Given the description of an element on the screen output the (x, y) to click on. 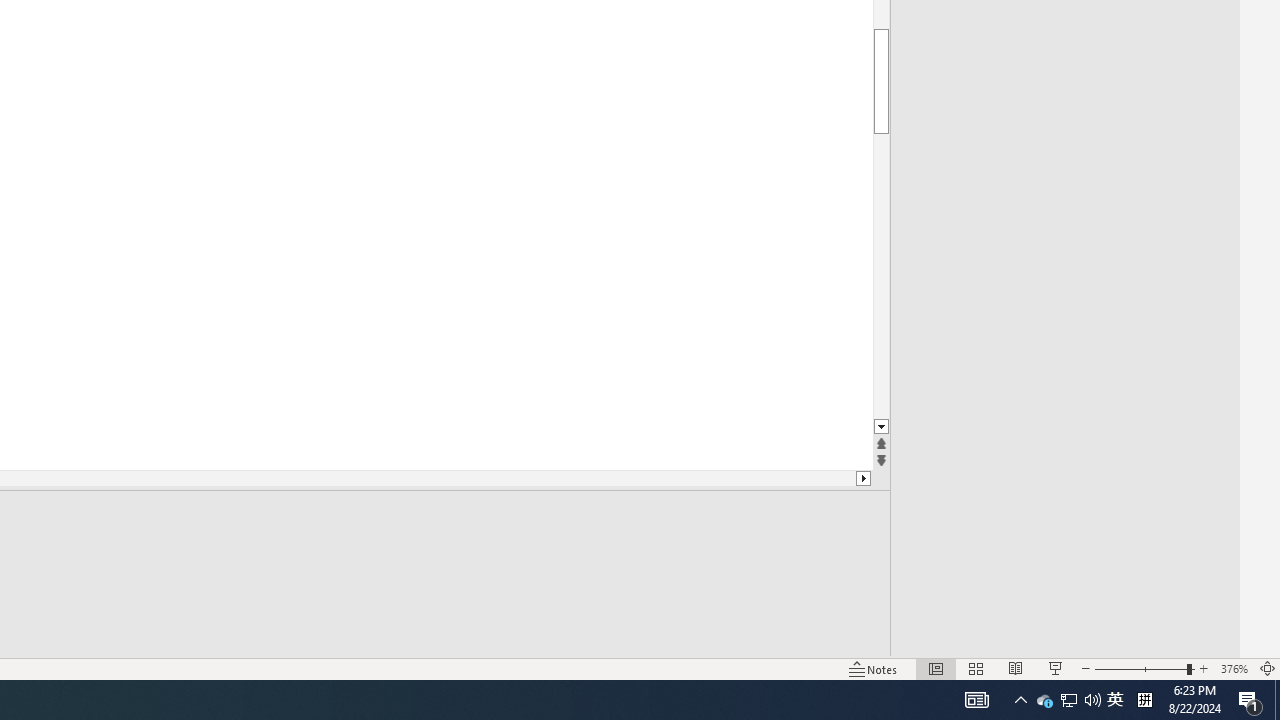
Zoom to Fit  (1267, 668)
Normal (936, 668)
Zoom Out (1140, 668)
Slide Sorter (975, 668)
Zoom In (1204, 668)
Zoom (1144, 668)
Page down (880, 276)
Notes  (874, 668)
Line down (880, 427)
Zoom 376% (1234, 668)
Reading View (1015, 668)
